Given the description of an element on the screen output the (x, y) to click on. 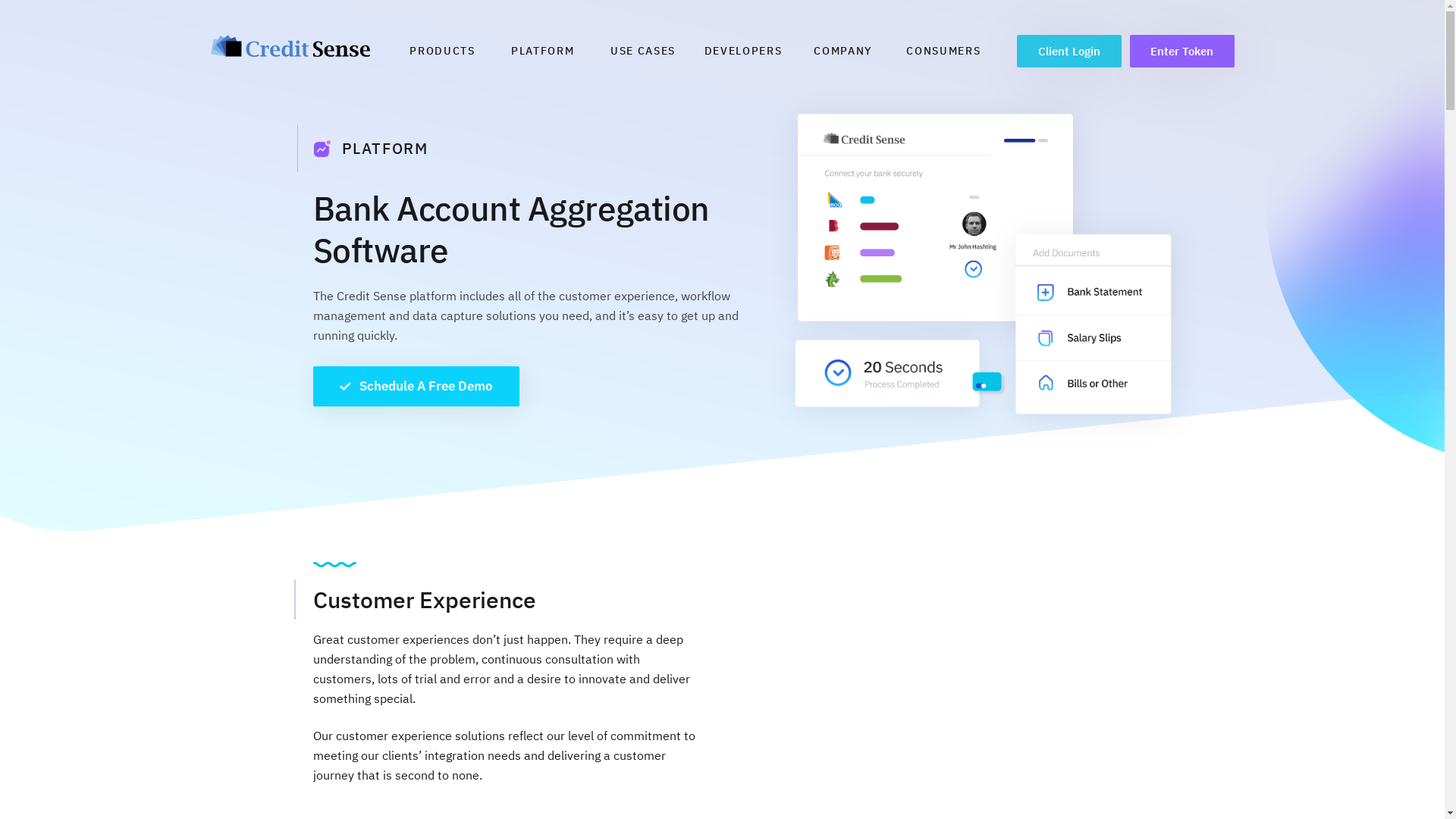
Enter Token Element type: text (1181, 50)
USE CASES Element type: text (642, 50)
COMPANY Element type: text (842, 50)
PRODUCTS Element type: text (441, 50)
DEVELOPERS Element type: text (743, 50)
Schedule A Free Demo Element type: text (415, 386)
PLATFORM Element type: text (542, 50)
CONSUMERS Element type: text (943, 50)
Client Login Element type: text (1068, 50)
